Given the description of an element on the screen output the (x, y) to click on. 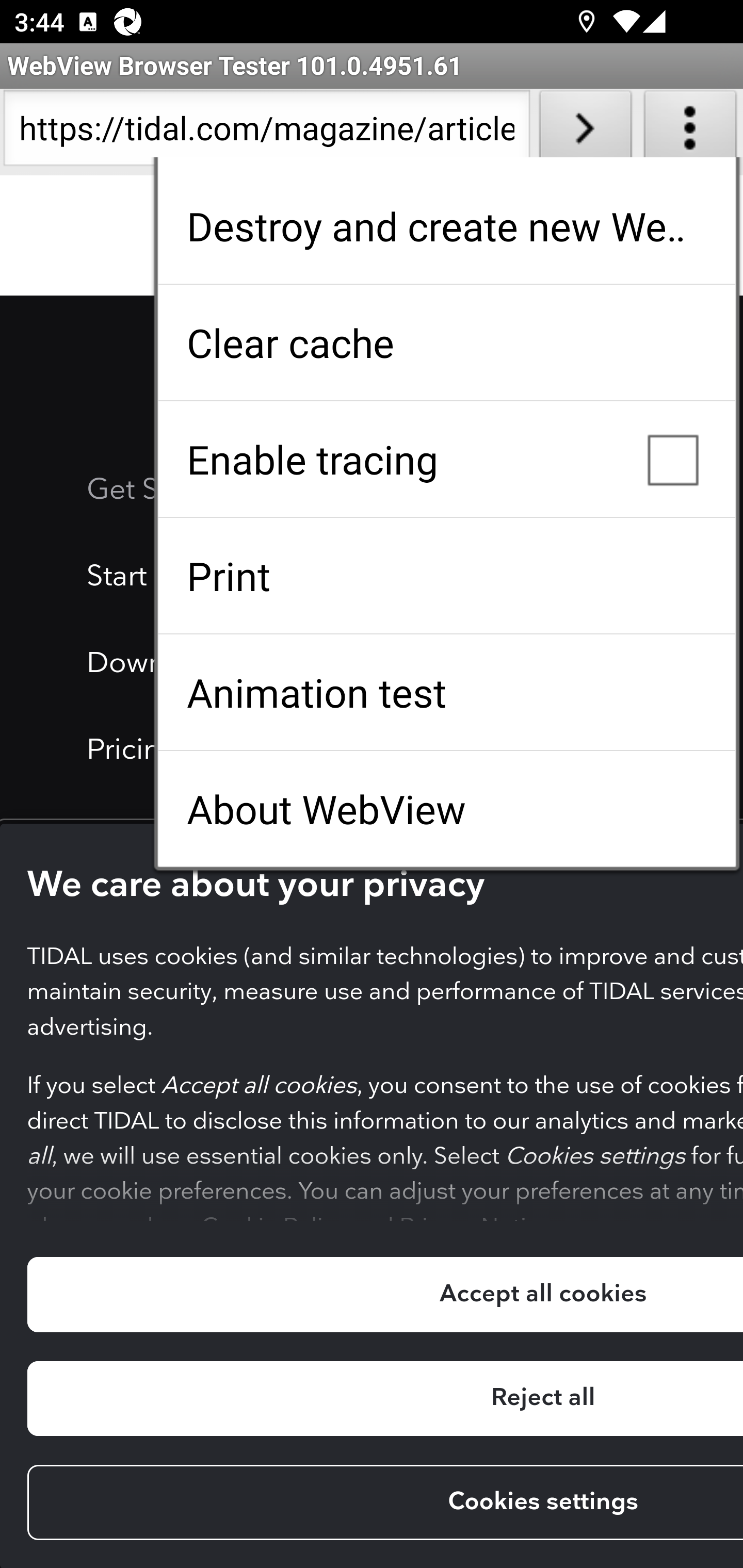
Destroy and create new WebView (446, 225)
Clear cache (446, 342)
Enable tracing (446, 459)
Print (446, 575)
Animation test (446, 692)
About WebView (446, 809)
